Given the description of an element on the screen output the (x, y) to click on. 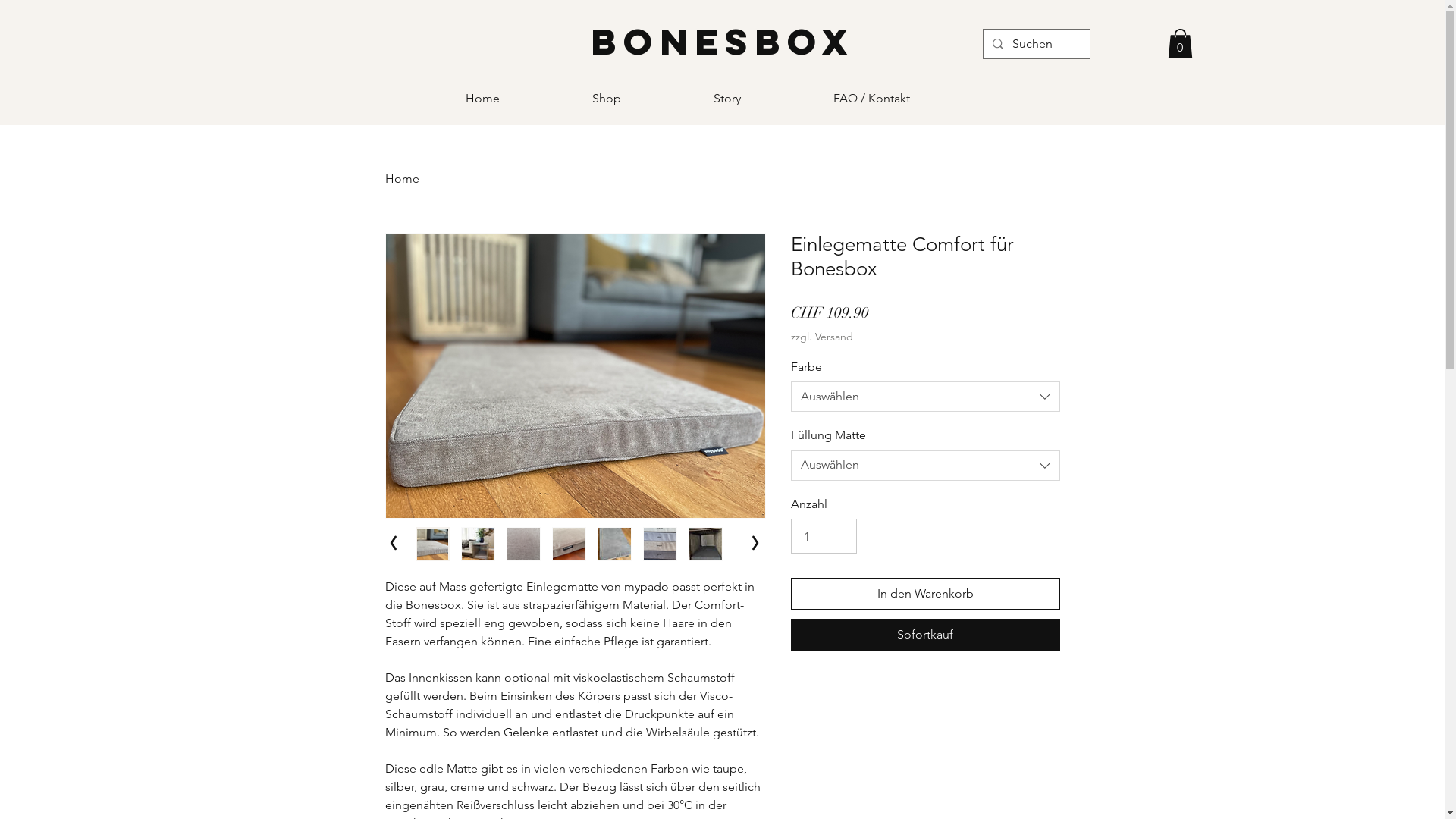
Story Element type: text (762, 98)
0 Element type: text (1179, 43)
In den Warenkorb Element type: text (924, 593)
Sofortkauf Element type: text (924, 634)
FAQ / Kontakt Element type: text (906, 98)
zzgl. Versand Element type: text (821, 336)
Home Element type: text (516, 98)
BONESBOX Element type: text (722, 41)
Shop Element type: text (641, 98)
Home Element type: text (402, 178)
